Given the description of an element on the screen output the (x, y) to click on. 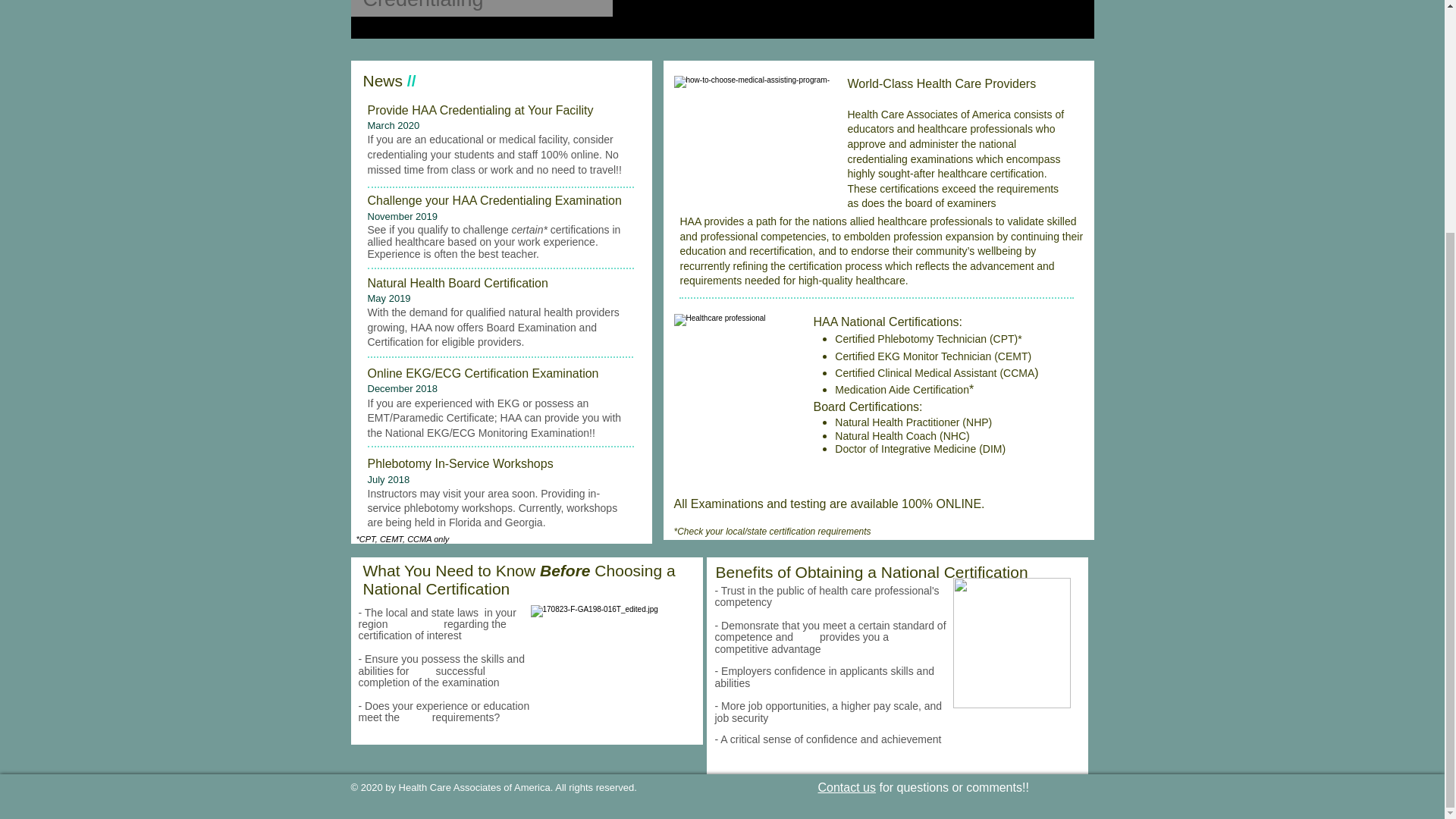
Young Doctor (1011, 643)
Nurse (735, 400)
Contact us (845, 787)
